Given the description of an element on the screen output the (x, y) to click on. 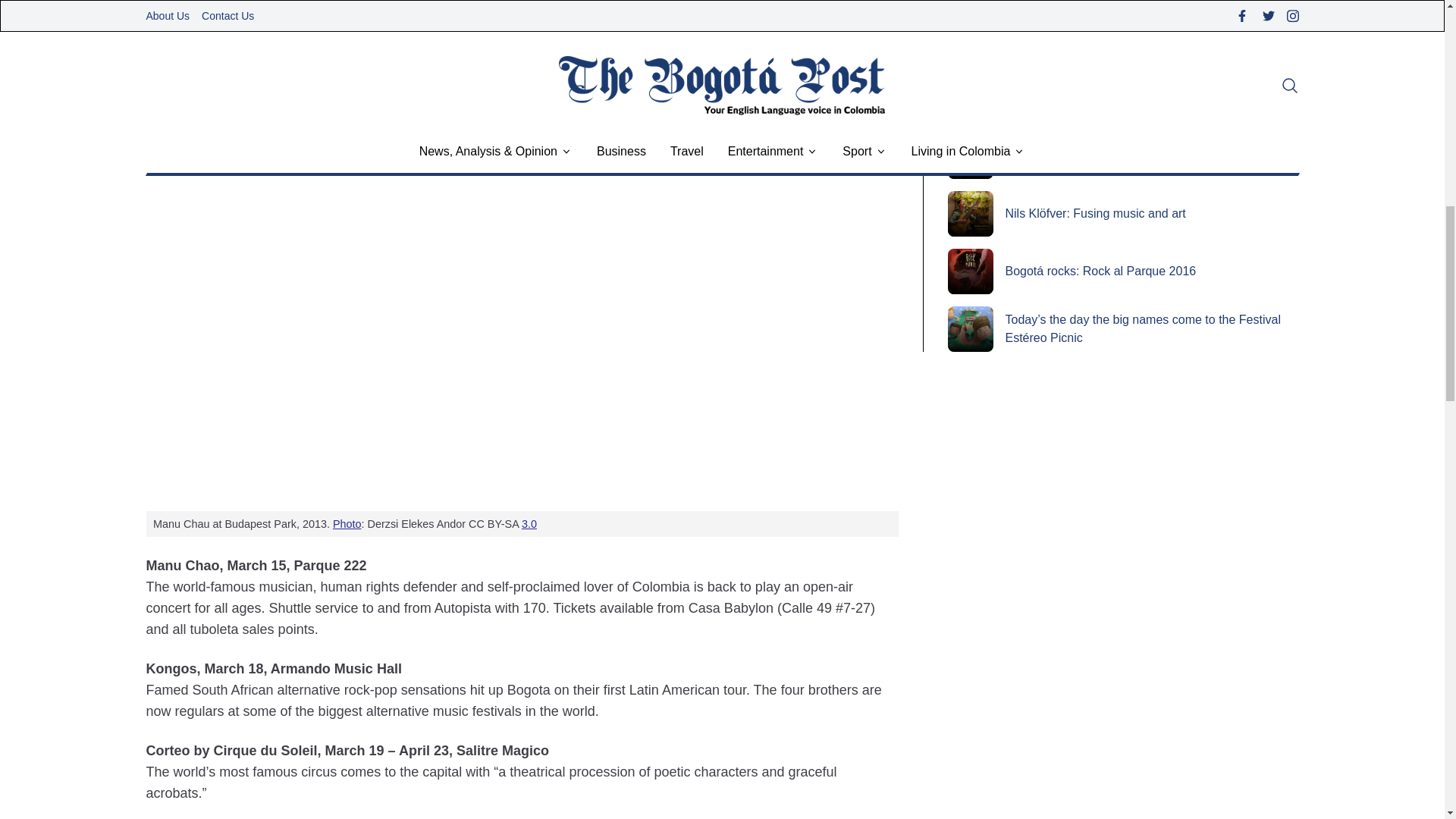
3.0 (529, 523)
Photo (347, 523)
